Given the description of an element on the screen output the (x, y) to click on. 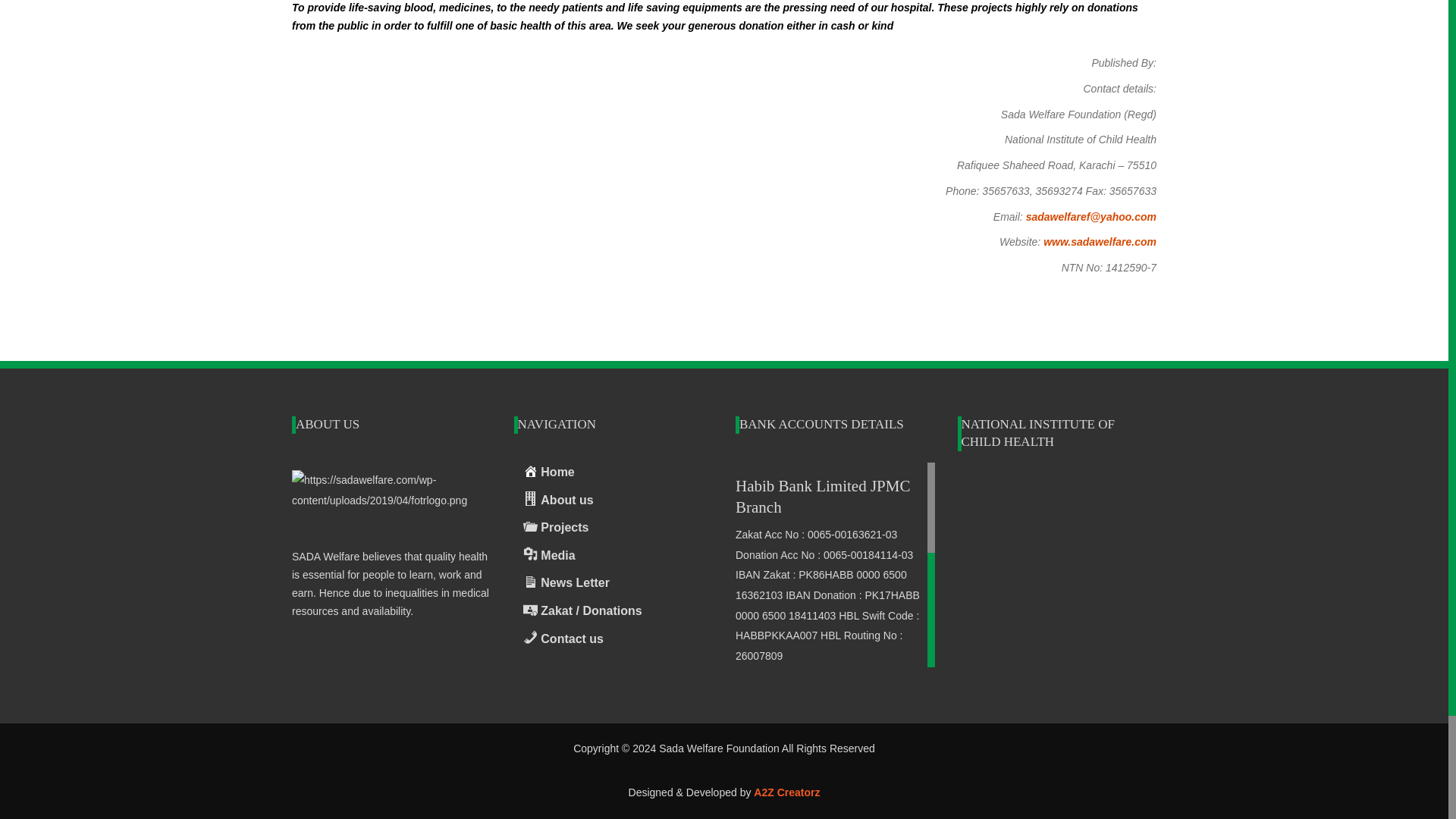
Home (613, 472)
www.sadawelfare.com (1099, 241)
About us (613, 500)
